Given the description of an element on the screen output the (x, y) to click on. 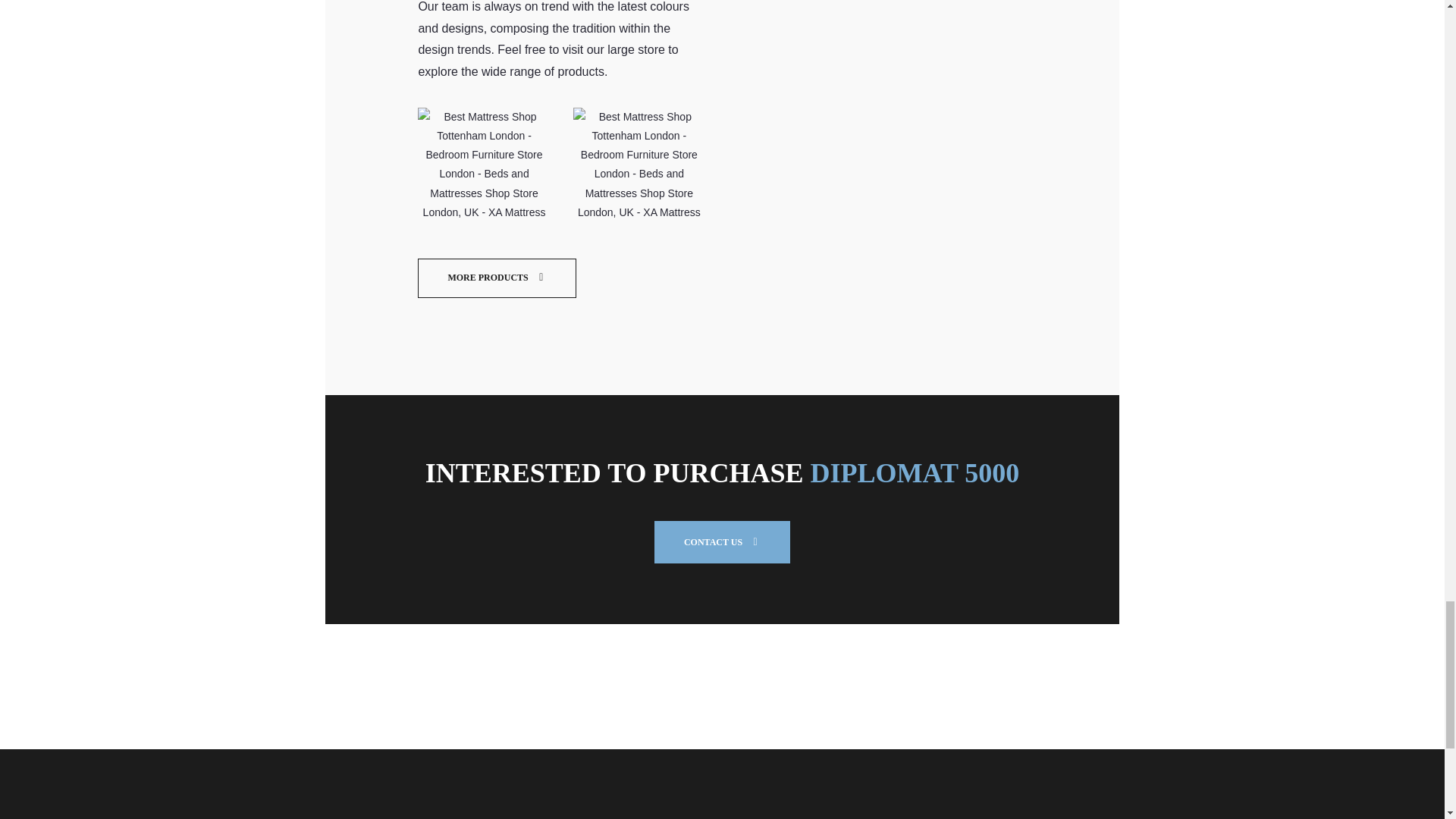
CONTACT US (721, 541)
MORE PRODUCTS (496, 278)
Puccini-3000-Ascot-Turquiose (638, 164)
